Given the description of an element on the screen output the (x, y) to click on. 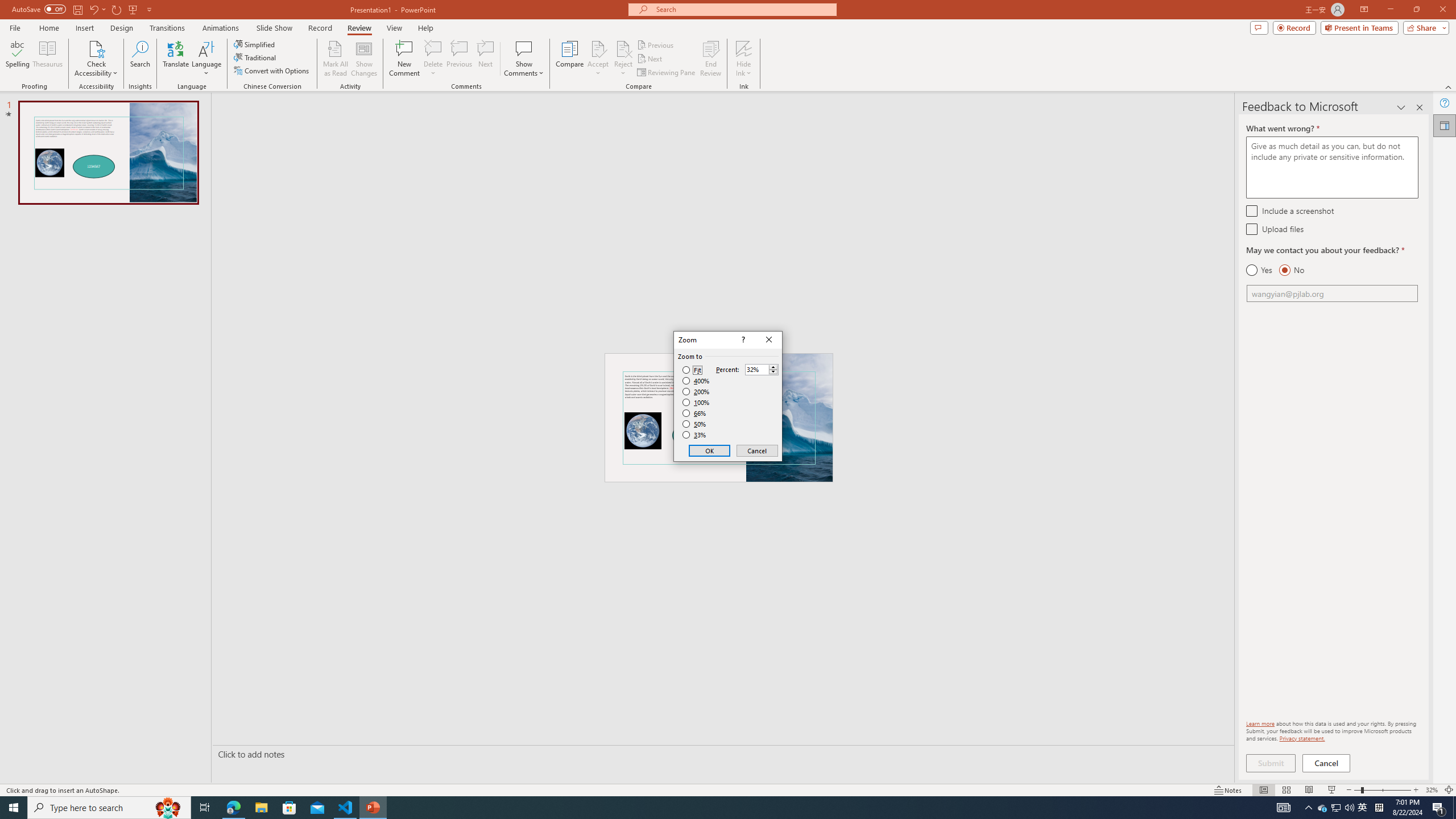
Zoom 32% (1431, 790)
Cancel (756, 450)
More (772, 366)
Accept Change (598, 48)
Yes (1259, 269)
Check Accessibility (95, 48)
Upload files (1251, 228)
400% (696, 380)
Next (649, 58)
Delete (432, 58)
